Given the description of an element on the screen output the (x, y) to click on. 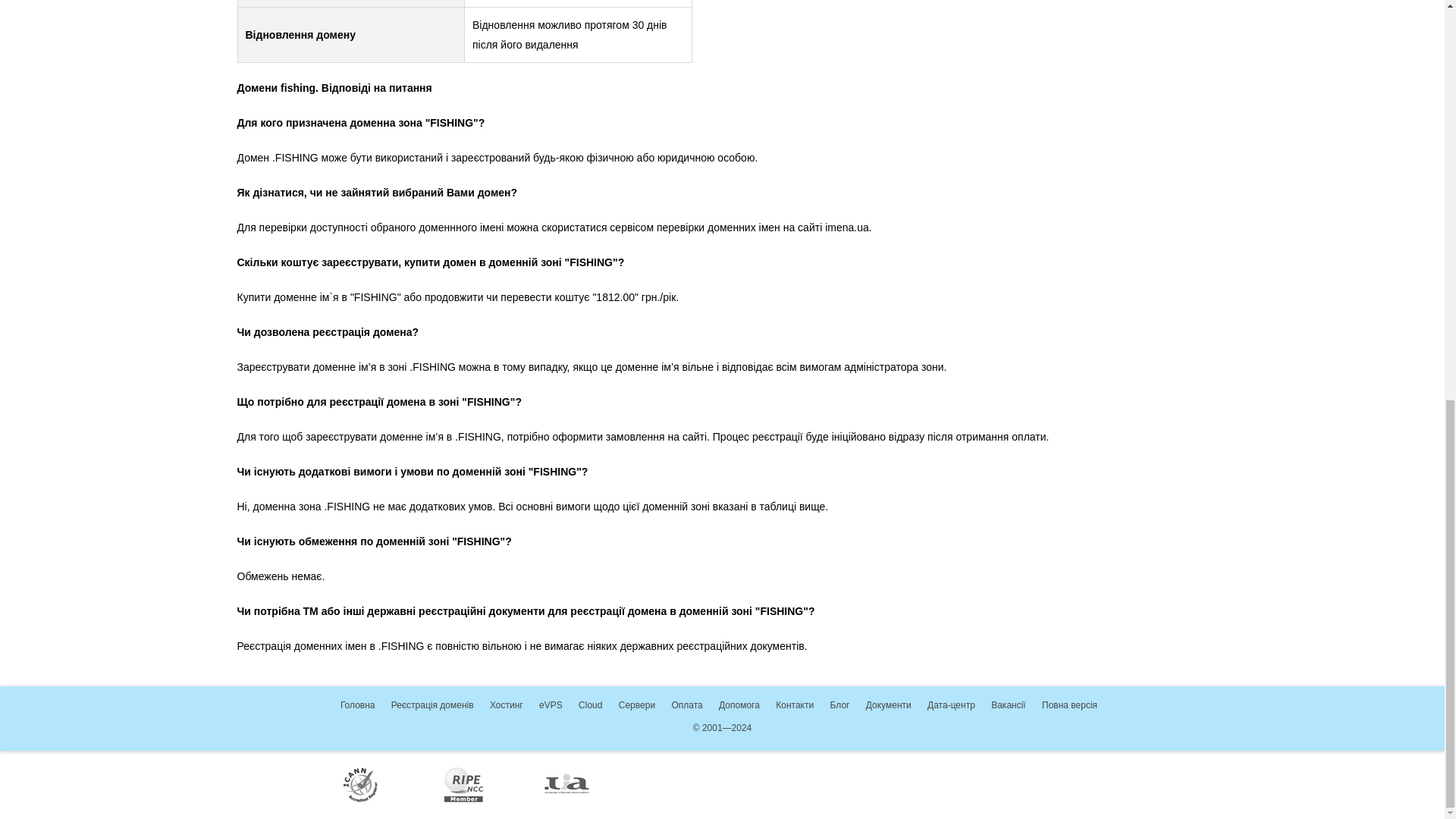
eVPS (550, 705)
Cloud (590, 705)
